Given the description of an element on the screen output the (x, y) to click on. 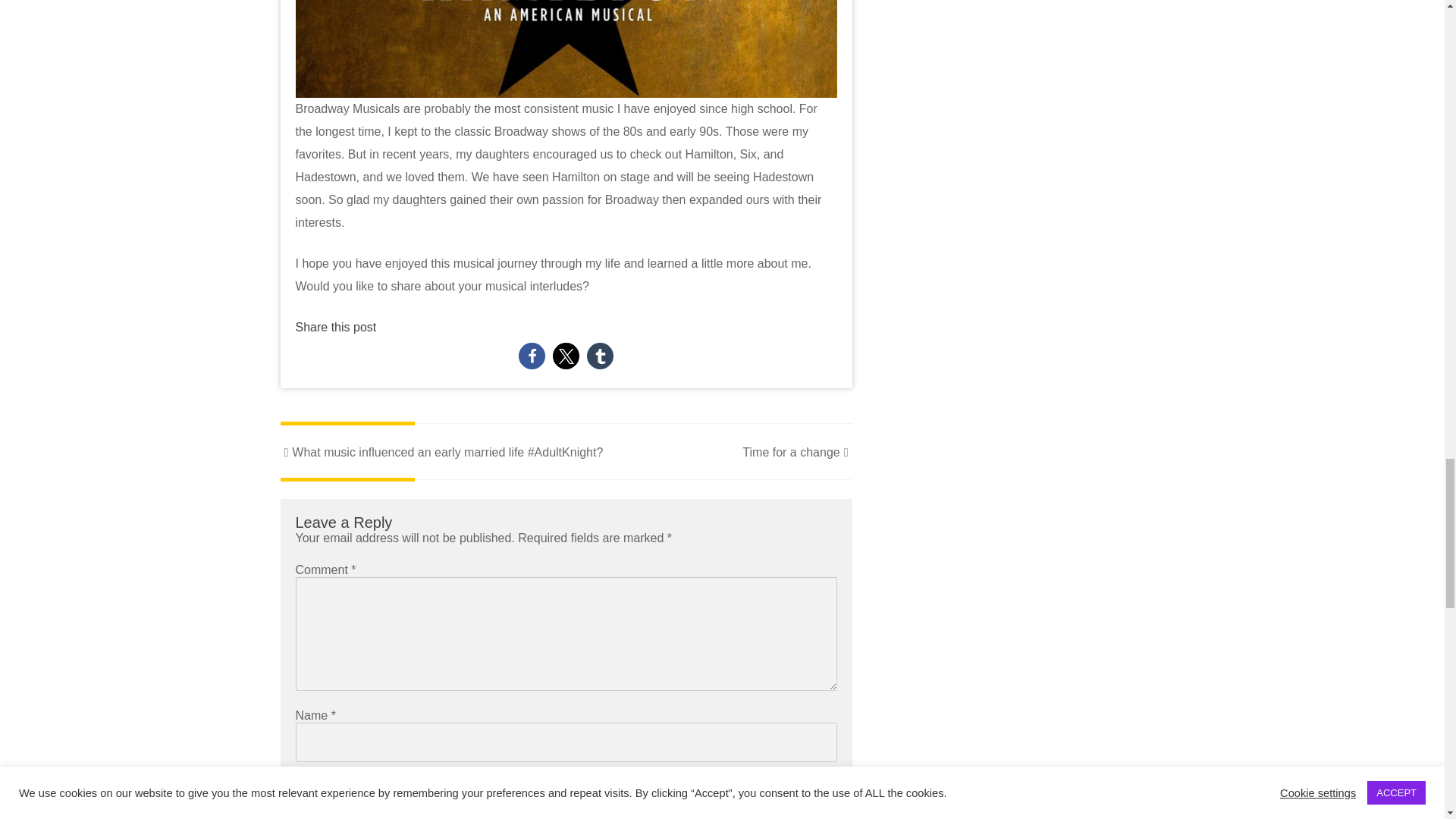
Time for a change (796, 451)
Share on tumblr (599, 356)
Share on Facebook (531, 356)
Share on X (566, 356)
